Given the description of an element on the screen output the (x, y) to click on. 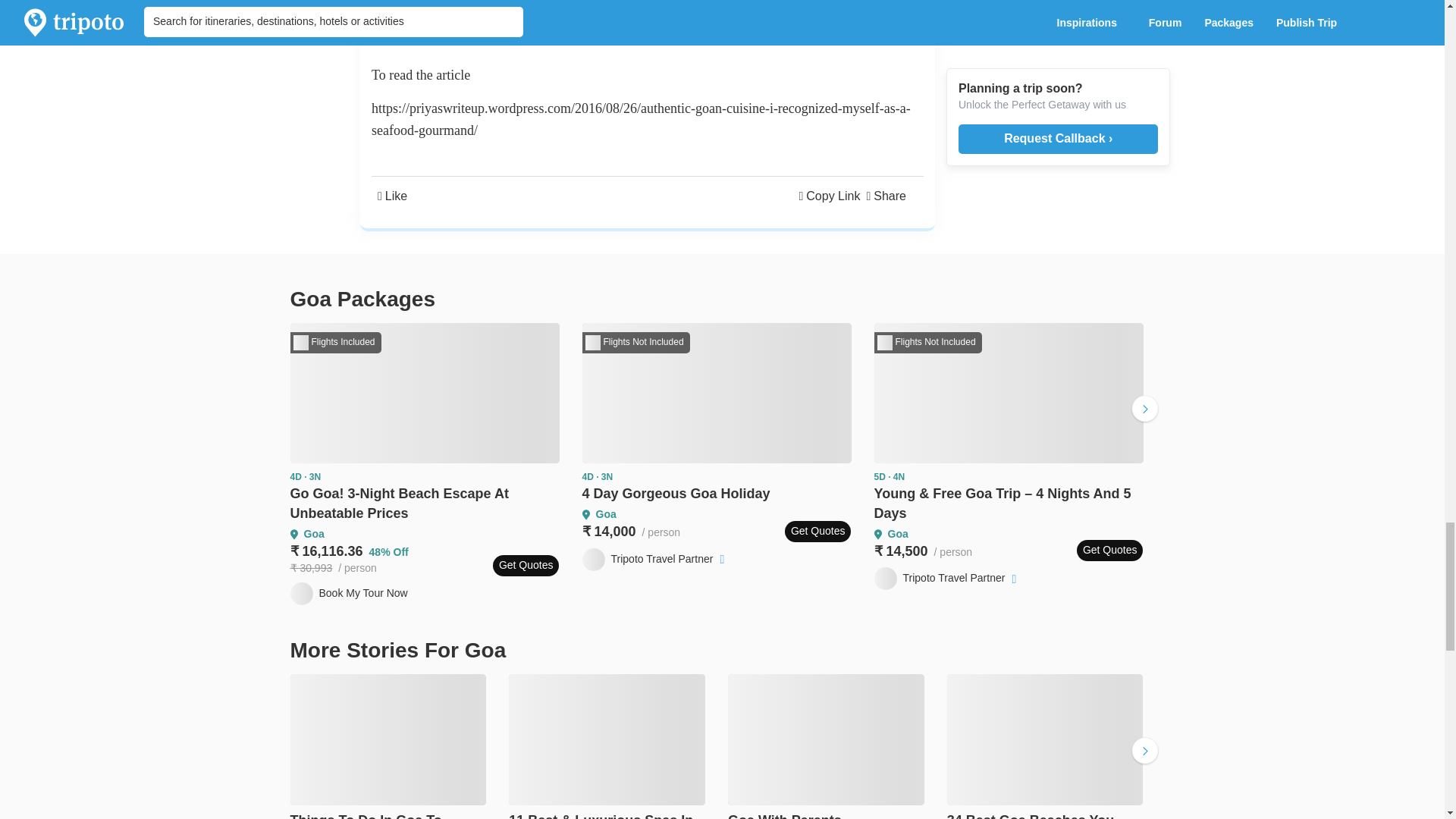
Get Quotes (817, 531)
Tripoto Travel Partner (655, 558)
Book My Tour Now (348, 593)
Get Quotes (526, 565)
